Given the description of an element on the screen output the (x, y) to click on. 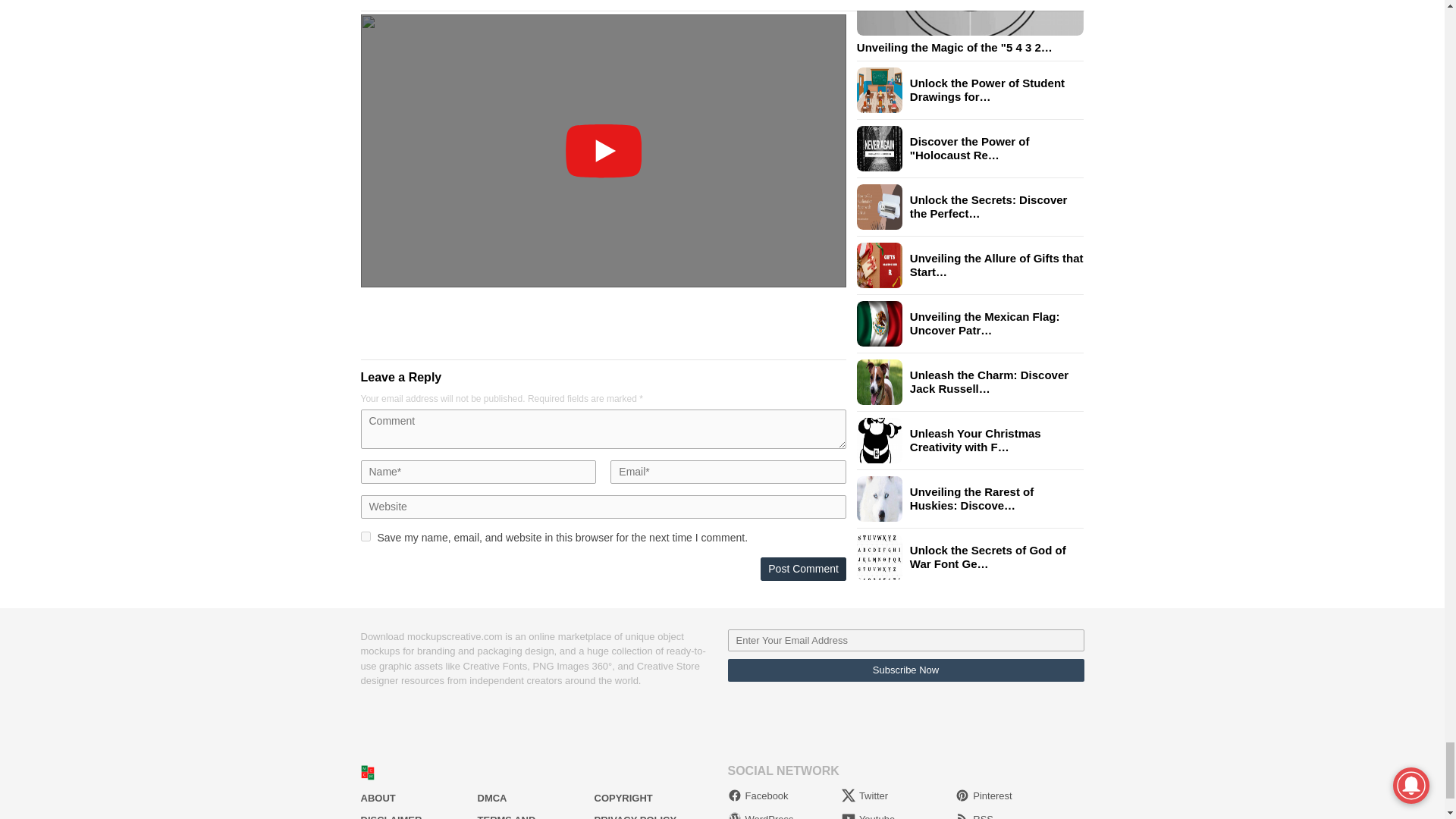
yes (366, 536)
Post Comment (802, 568)
Subscribe Now (906, 670)
